Given the description of an element on the screen output the (x, y) to click on. 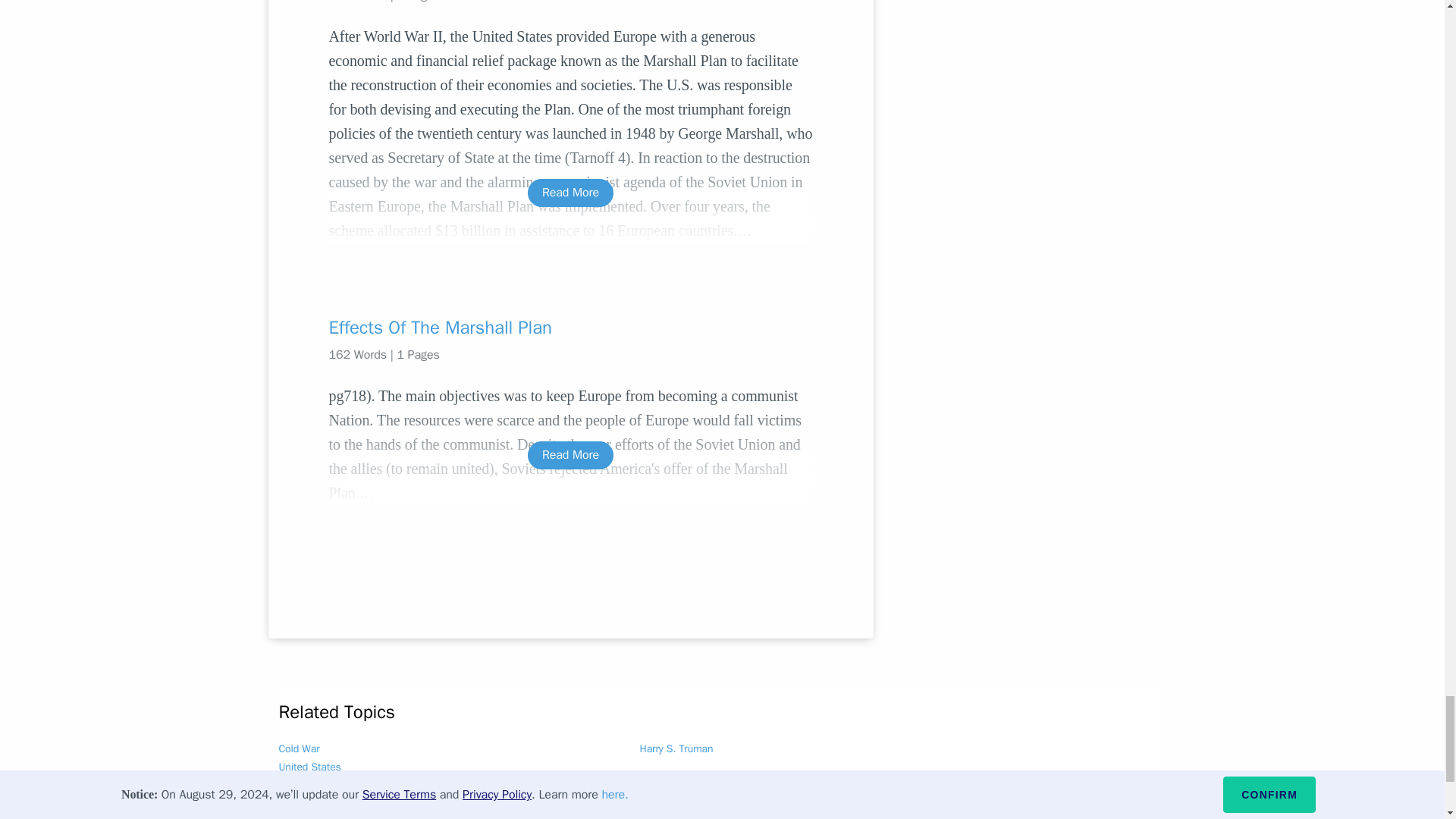
Terms of Service (548, 816)
Contact Us (460, 816)
Cold War (299, 748)
Harry S. Truman (676, 748)
Privacy Policy (313, 816)
United States (309, 766)
About Ads (389, 816)
